Given the description of an element on the screen output the (x, y) to click on. 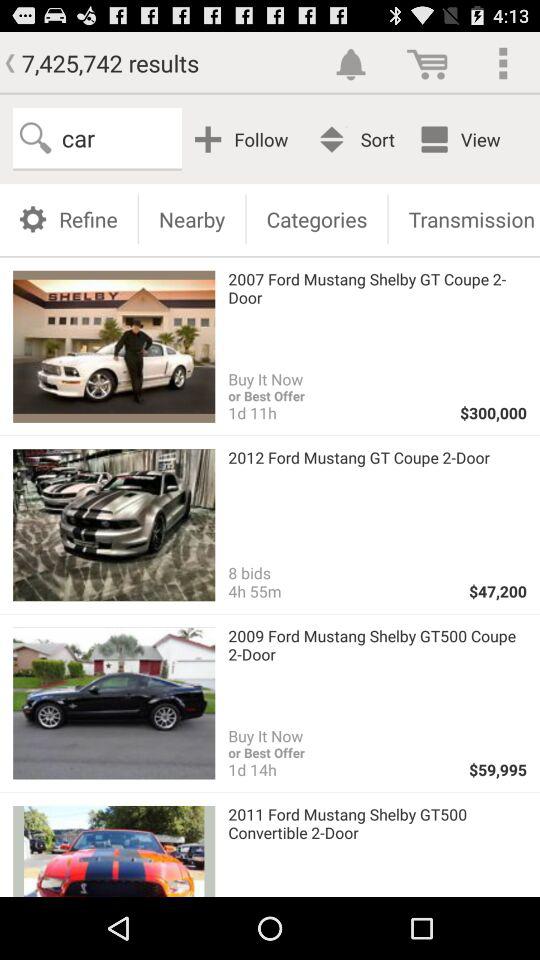
click the button above nearby item (244, 138)
